Given the description of an element on the screen output the (x, y) to click on. 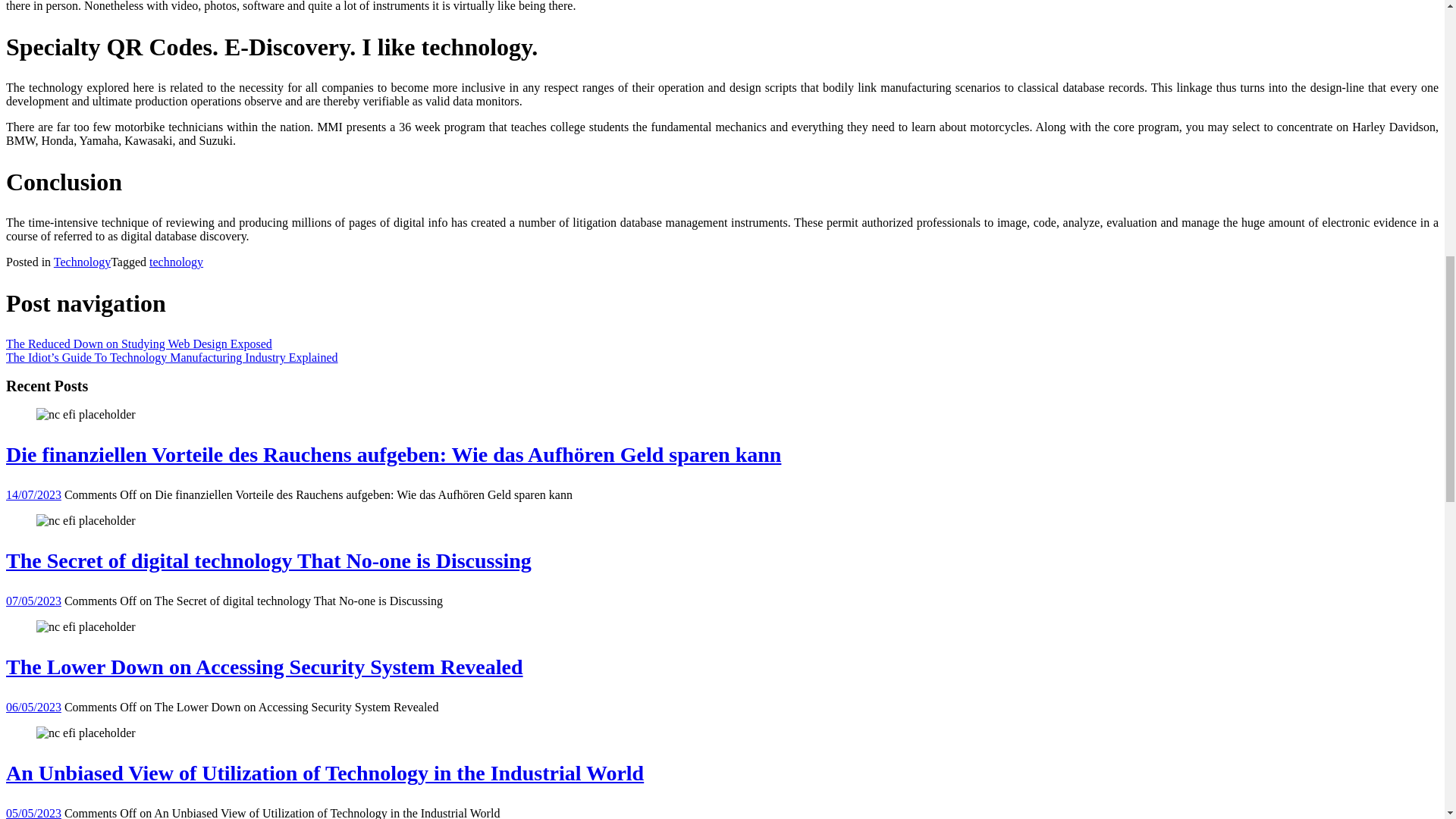
The Secret of digital technology That No-one is Discussing (85, 520)
technology (176, 261)
The Reduced Down on Studying Web Design Exposed (138, 343)
The Lower Down on Accessing Security System Revealed (85, 626)
Technology (81, 261)
